Given the description of an element on the screen output the (x, y) to click on. 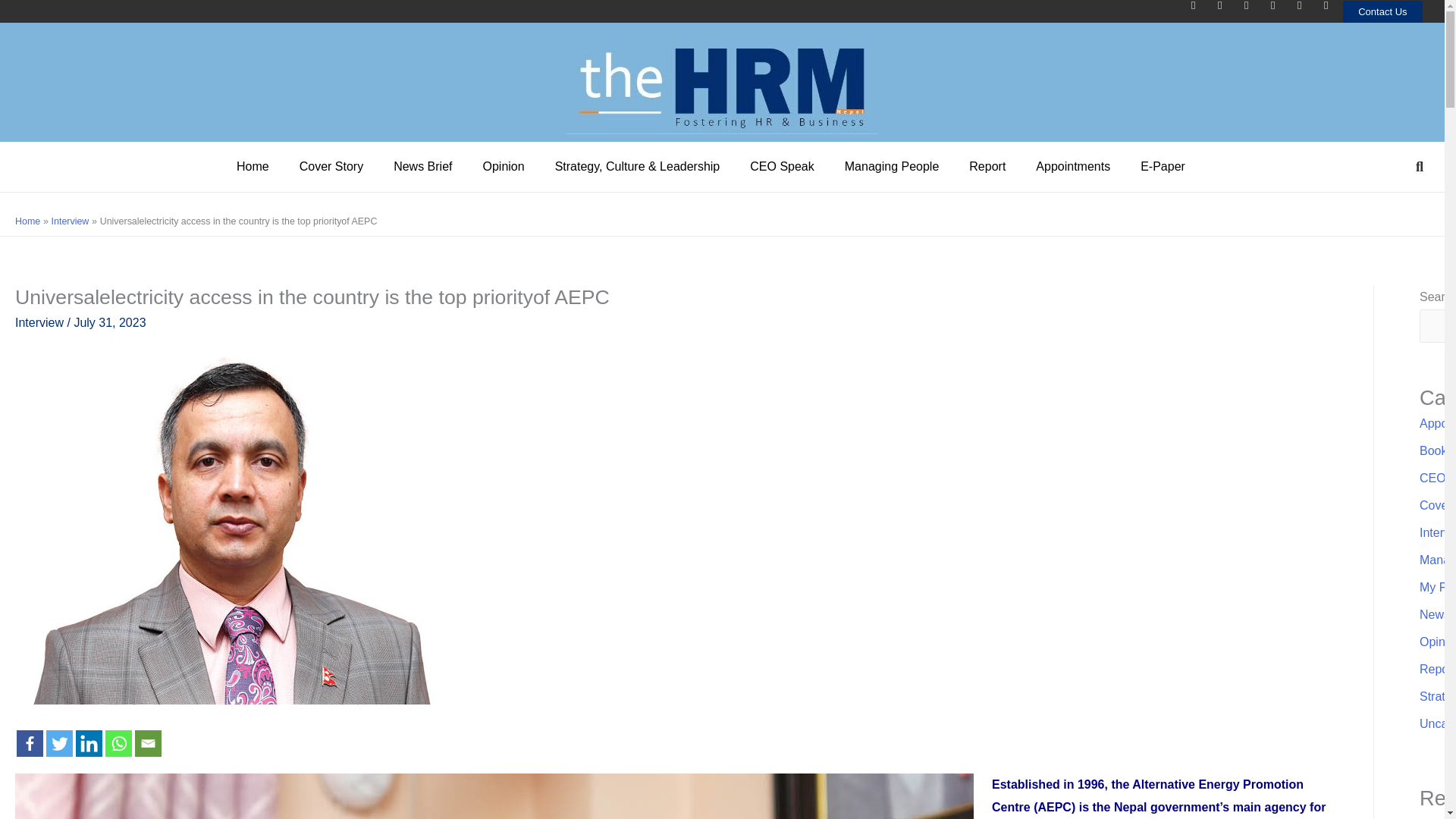
Home (252, 166)
Email (148, 743)
Twitter (59, 743)
Facebook (29, 743)
Appointments (1072, 166)
Cover Story (330, 166)
Whatsapp (118, 743)
Linkedin (88, 743)
CEO Speak (781, 166)
Opinion (502, 166)
E-Paper (1162, 166)
Managing People (892, 166)
Contact Us (1382, 11)
Report (986, 166)
News Brief (422, 166)
